Given the description of an element on the screen output the (x, y) to click on. 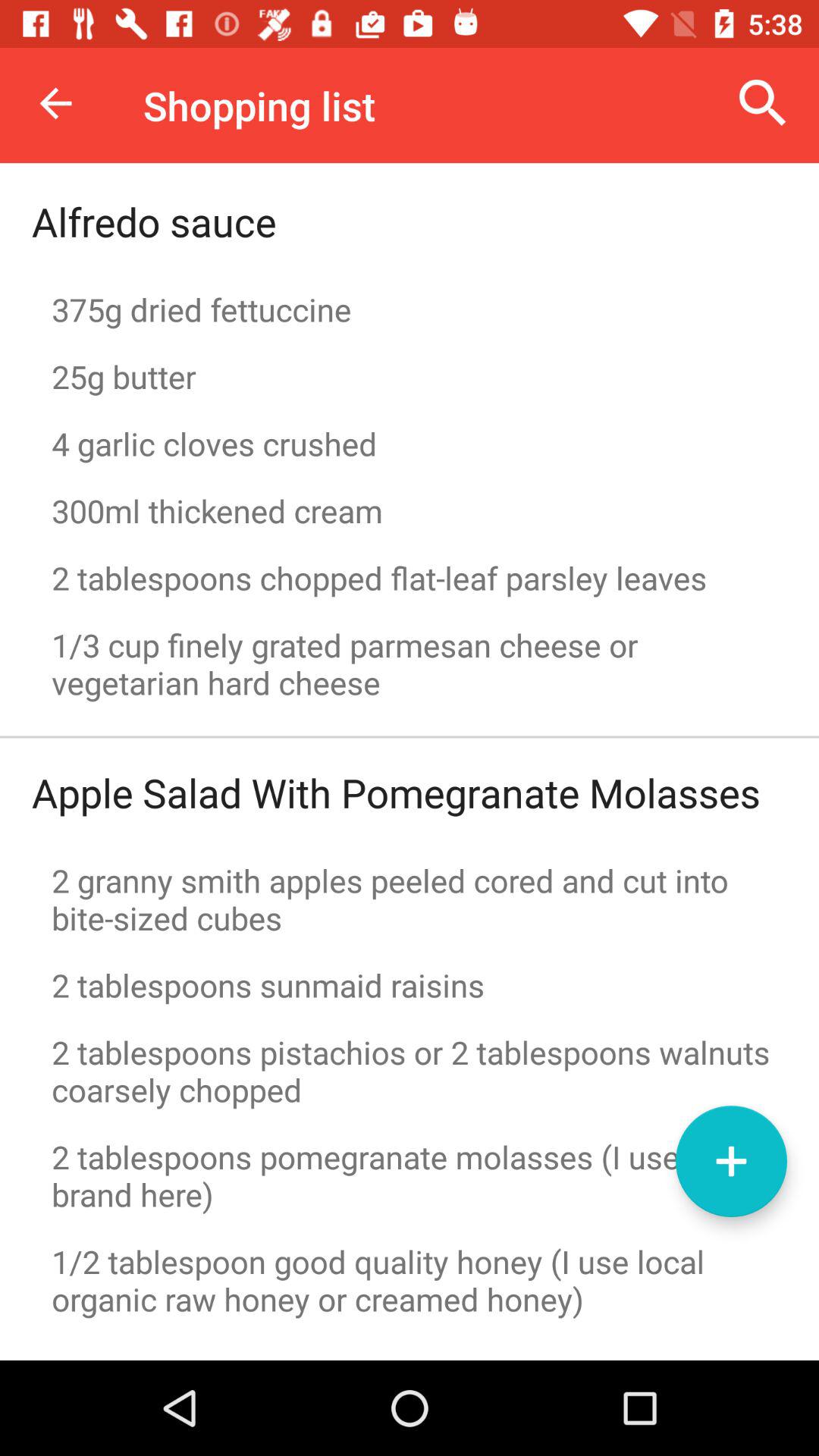
tap item to the right of the shopping list (763, 103)
